Given the description of an element on the screen output the (x, y) to click on. 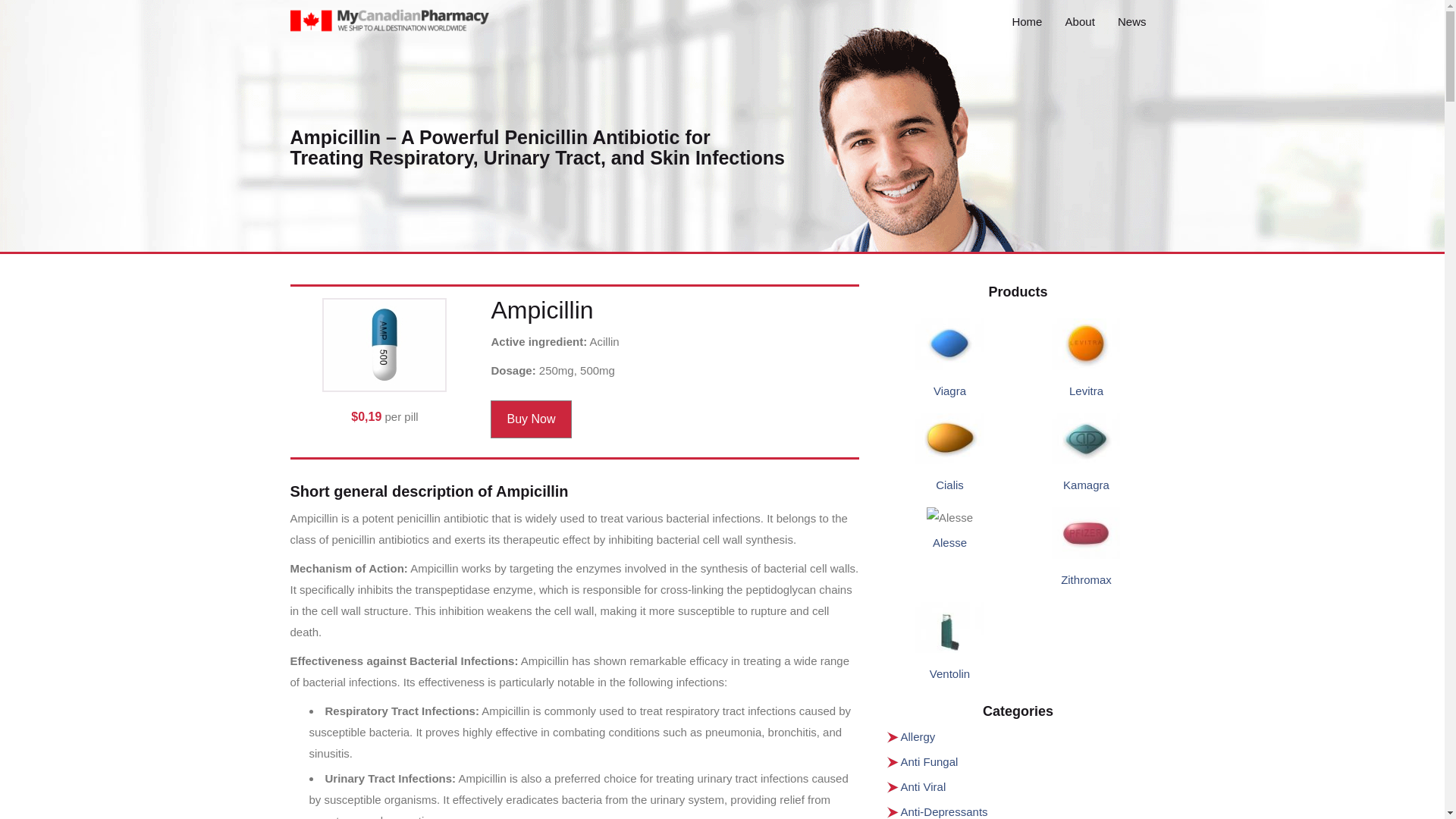
Anti Viral (923, 786)
Anti Fungal (929, 761)
Ventolin (949, 673)
Viagra (949, 390)
News (1131, 21)
Ventolin (949, 673)
Zithromax (1086, 579)
Allergy (918, 736)
Cialis (949, 484)
Cialis (949, 484)
